Given the description of an element on the screen output the (x, y) to click on. 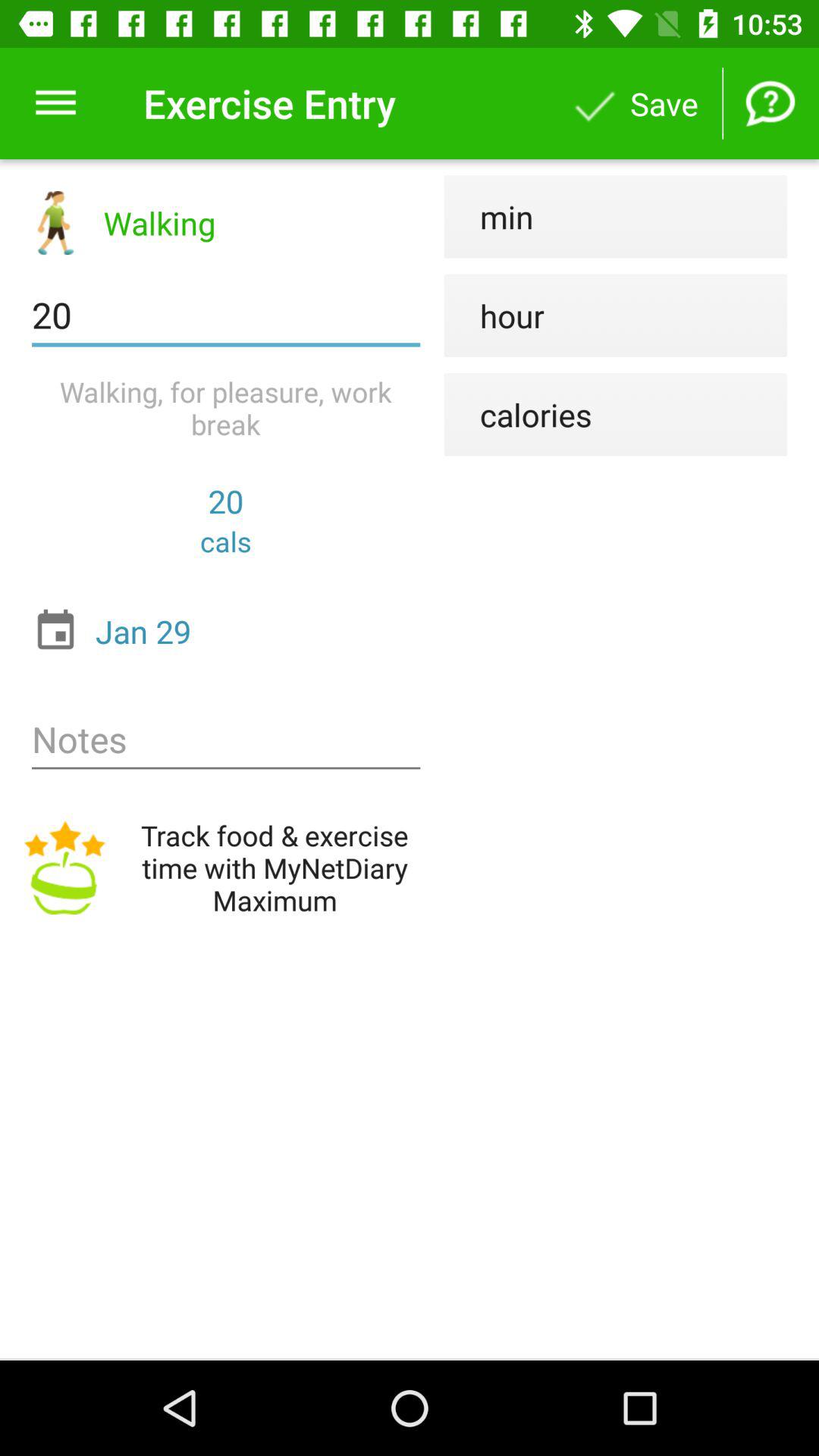
select icon above track food exercise item (225, 739)
